Given the description of an element on the screen output the (x, y) to click on. 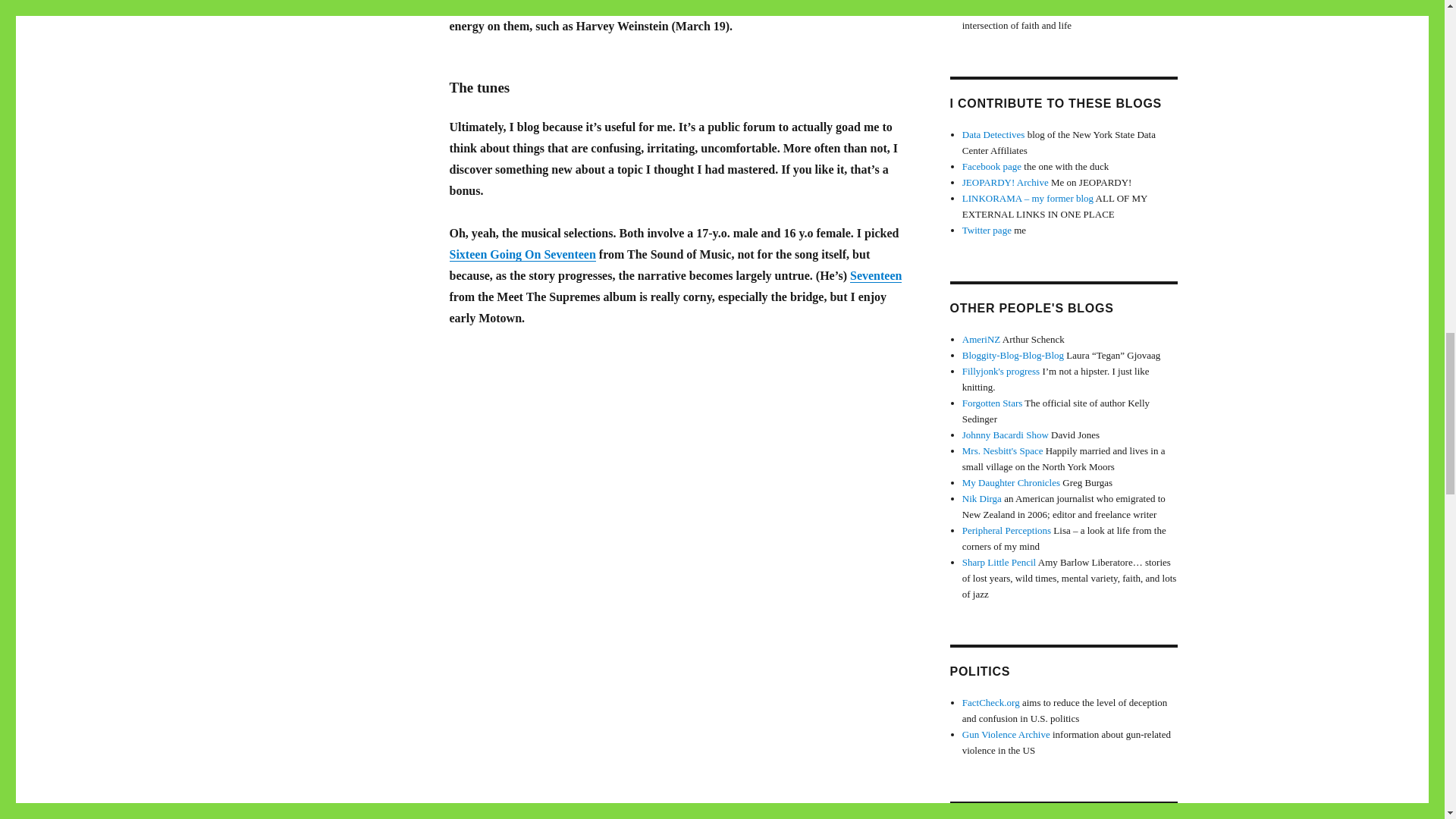
Seventeen (875, 275)
Sixteen Going On Seventeen (521, 254)
